Given the description of an element on the screen output the (x, y) to click on. 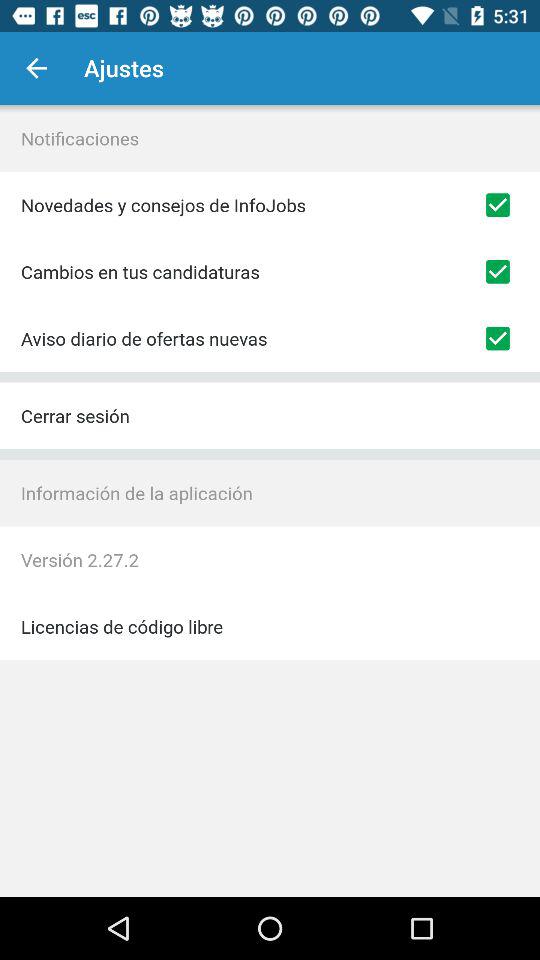
turn on icon to the left of ajustes item (36, 68)
